Given the description of an element on the screen output the (x, y) to click on. 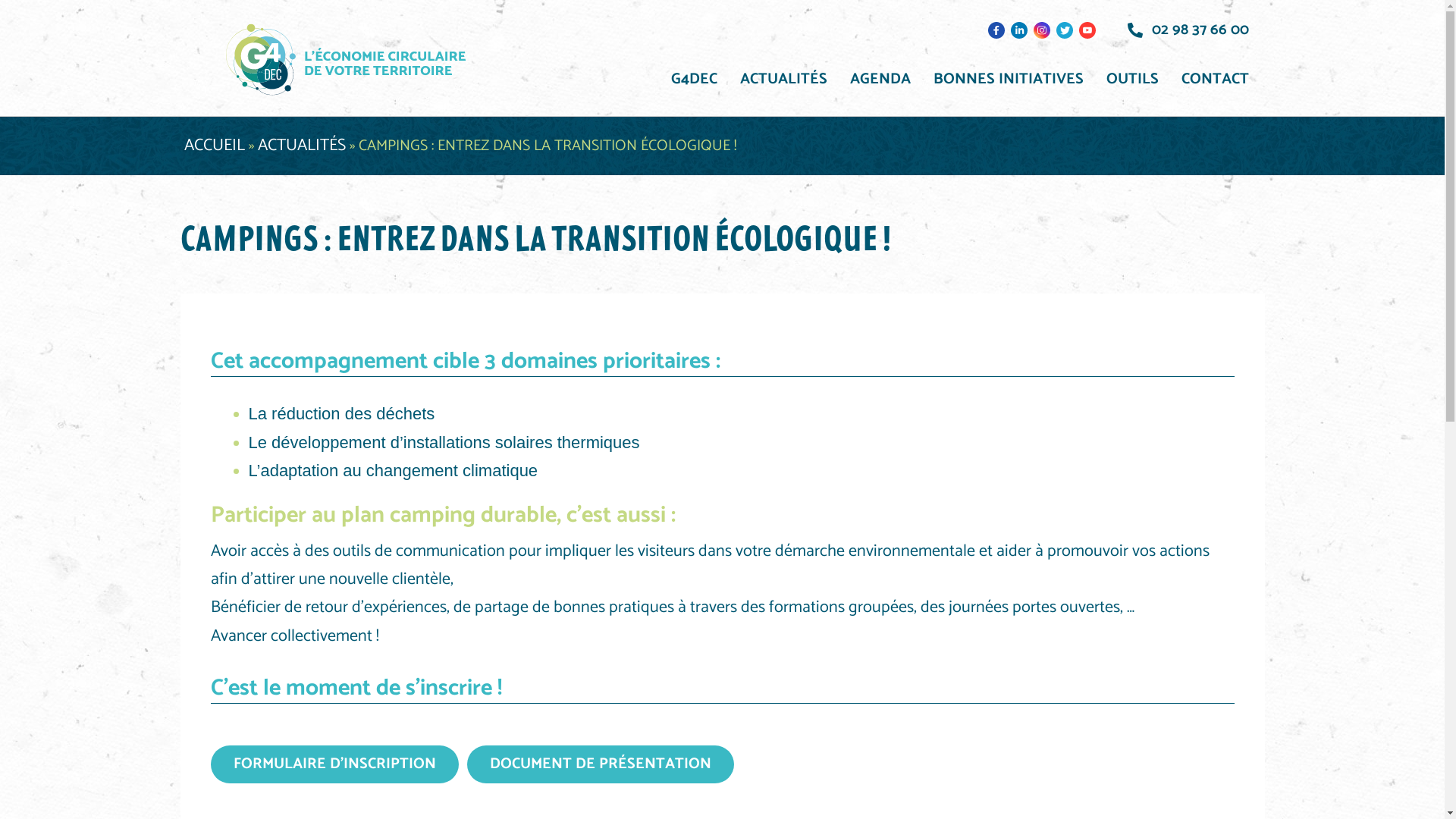
BONNES INITIATIVES Element type: text (1008, 79)
AGENDA Element type: text (880, 79)
ACCUEIL Element type: text (213, 145)
OUTILS Element type: text (1132, 79)
G4DEC Element type: text (693, 79)
CONTACT Element type: text (1215, 79)
02 98 37 66 00 Element type: text (1187, 29)
